Given the description of an element on the screen output the (x, y) to click on. 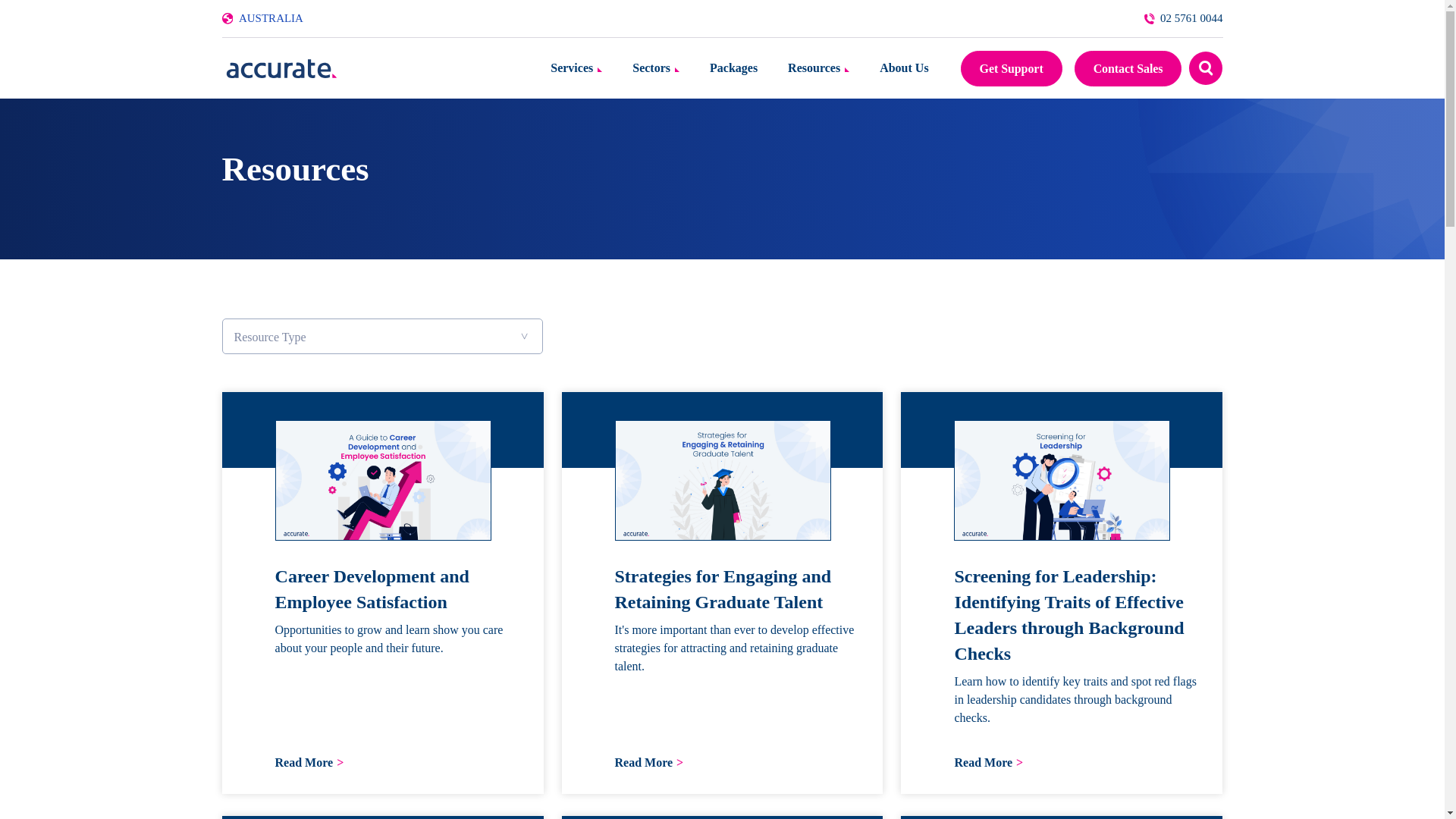
AUSTRALIA (270, 18)
02 5761 0044 (1183, 18)
Contact Sales (1128, 67)
Get Support (1011, 67)
Resources (817, 67)
